Given the description of an element on the screen output the (x, y) to click on. 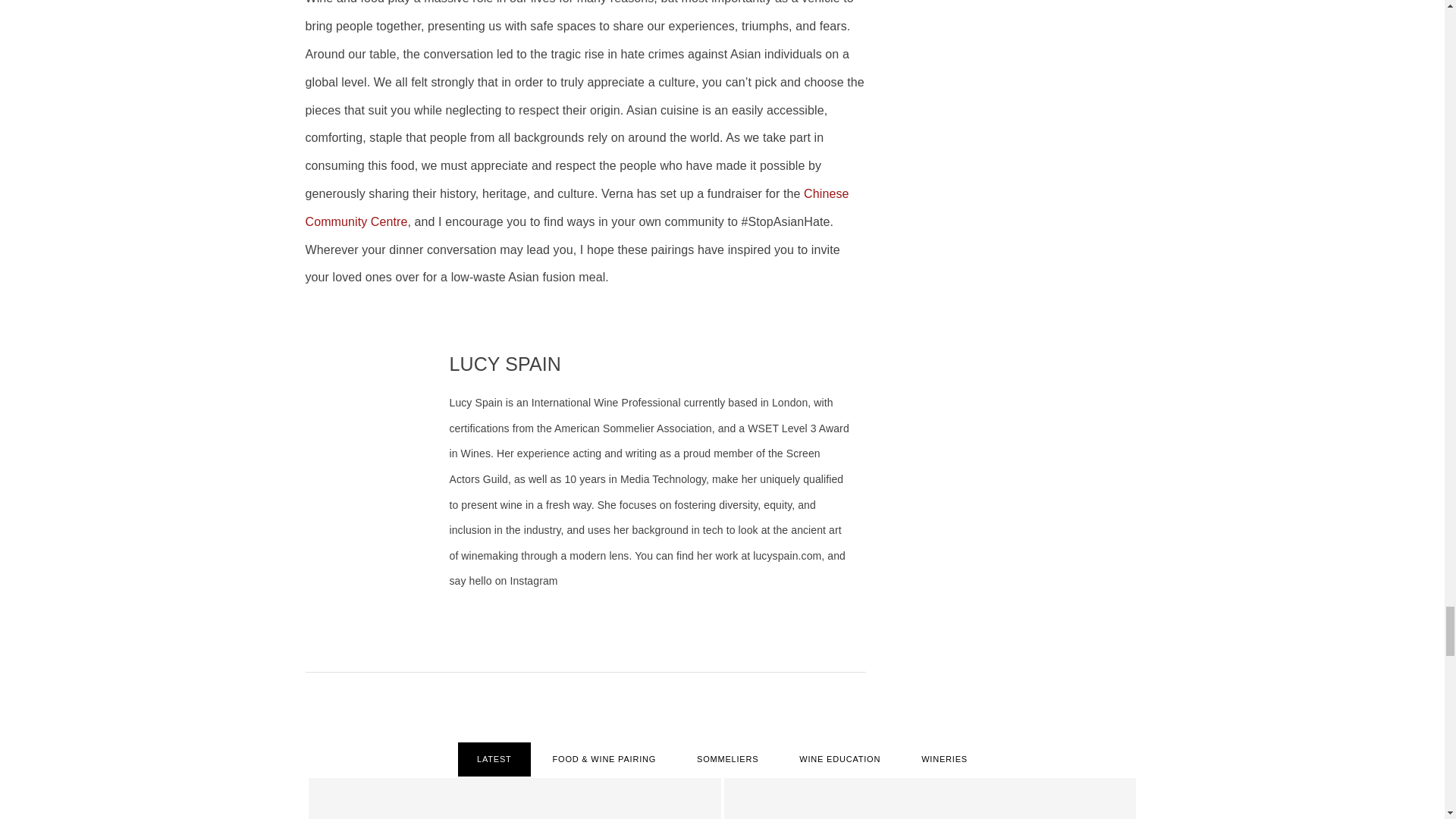
LUCY SPAIN (504, 363)
Chinese Community Centre (576, 207)
